Given the description of an element on the screen output the (x, y) to click on. 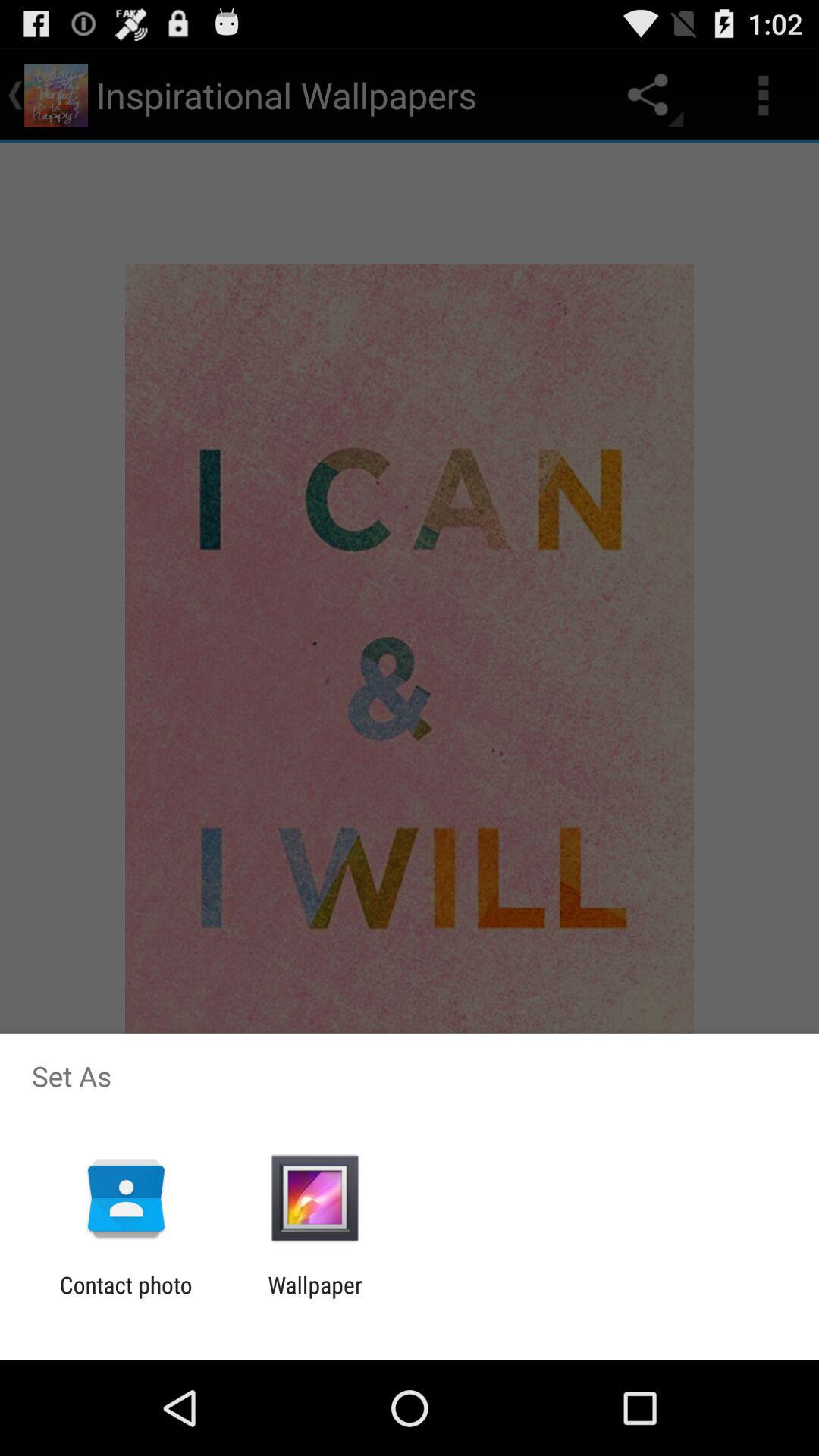
launch contact photo icon (125, 1298)
